Given the description of an element on the screen output the (x, y) to click on. 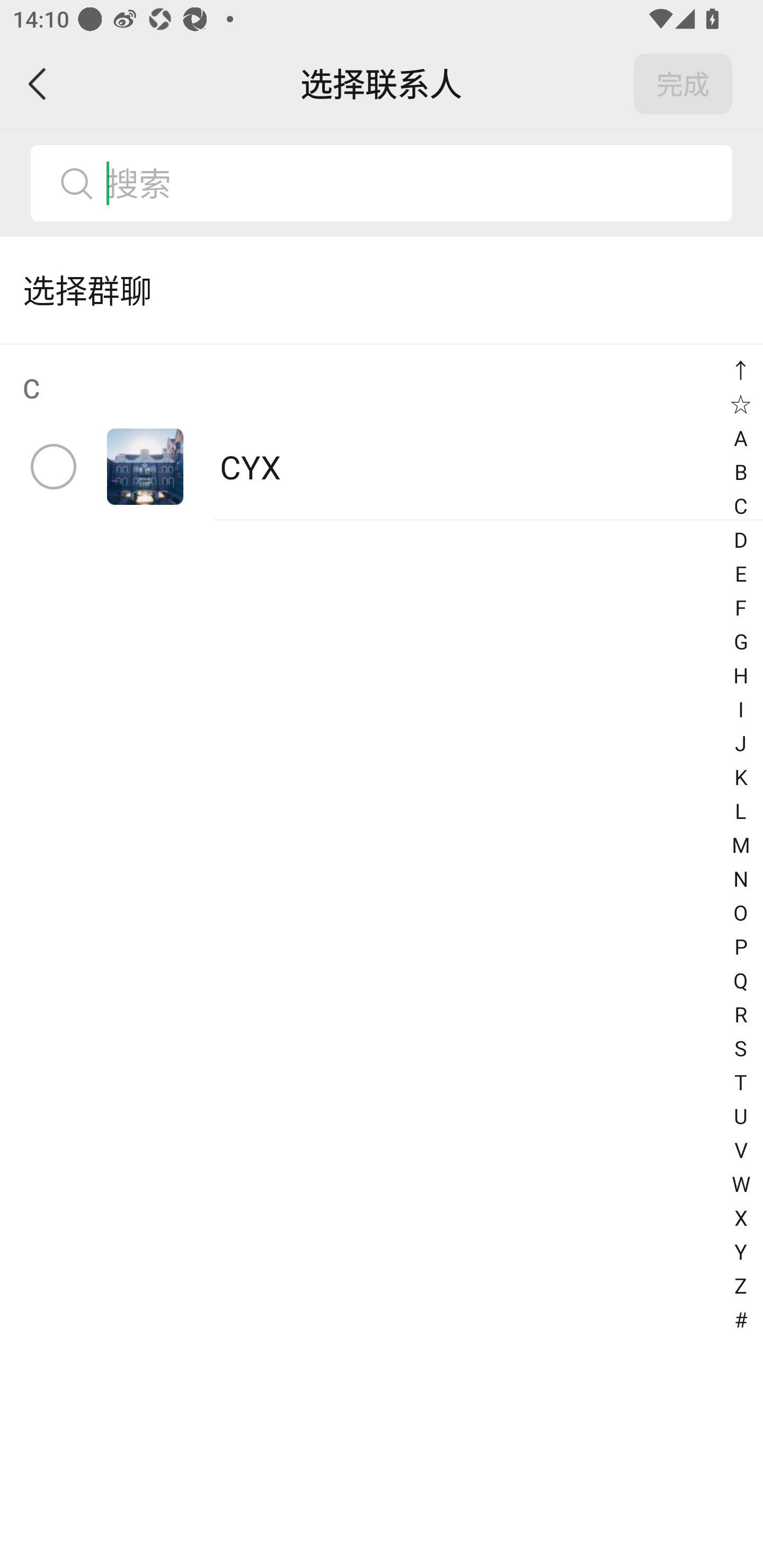
返回 (38, 83)
完成 (683, 83)
搜索 (381, 183)
搜索 (411, 183)
选择群聊 (381, 290)
C CYX (381, 432)
